Given the description of an element on the screen output the (x, y) to click on. 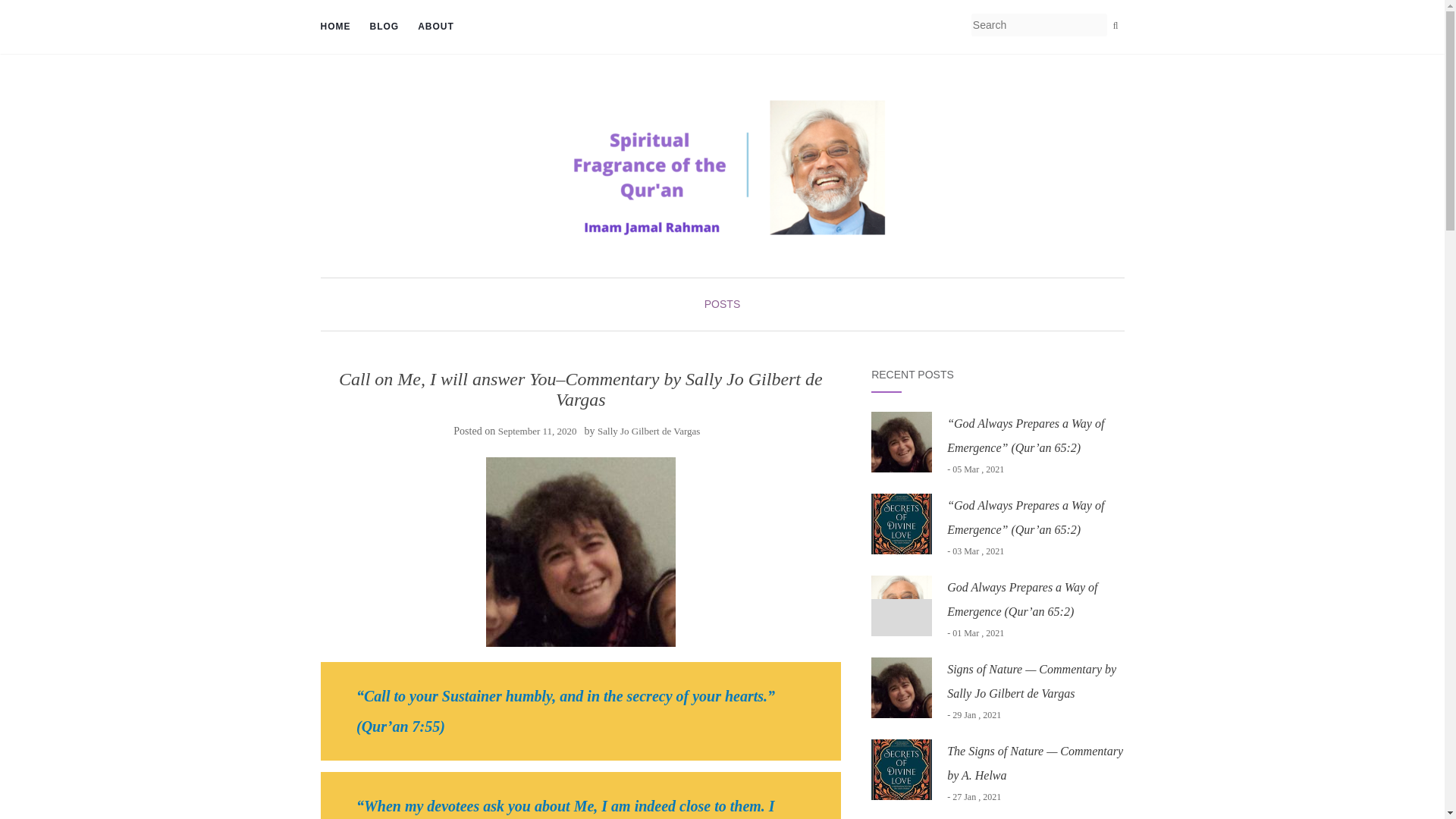
September 11, 2020 (536, 430)
POSTS (721, 304)
Sally Jo Gilbert de Vargas (648, 430)
